Given the description of an element on the screen output the (x, y) to click on. 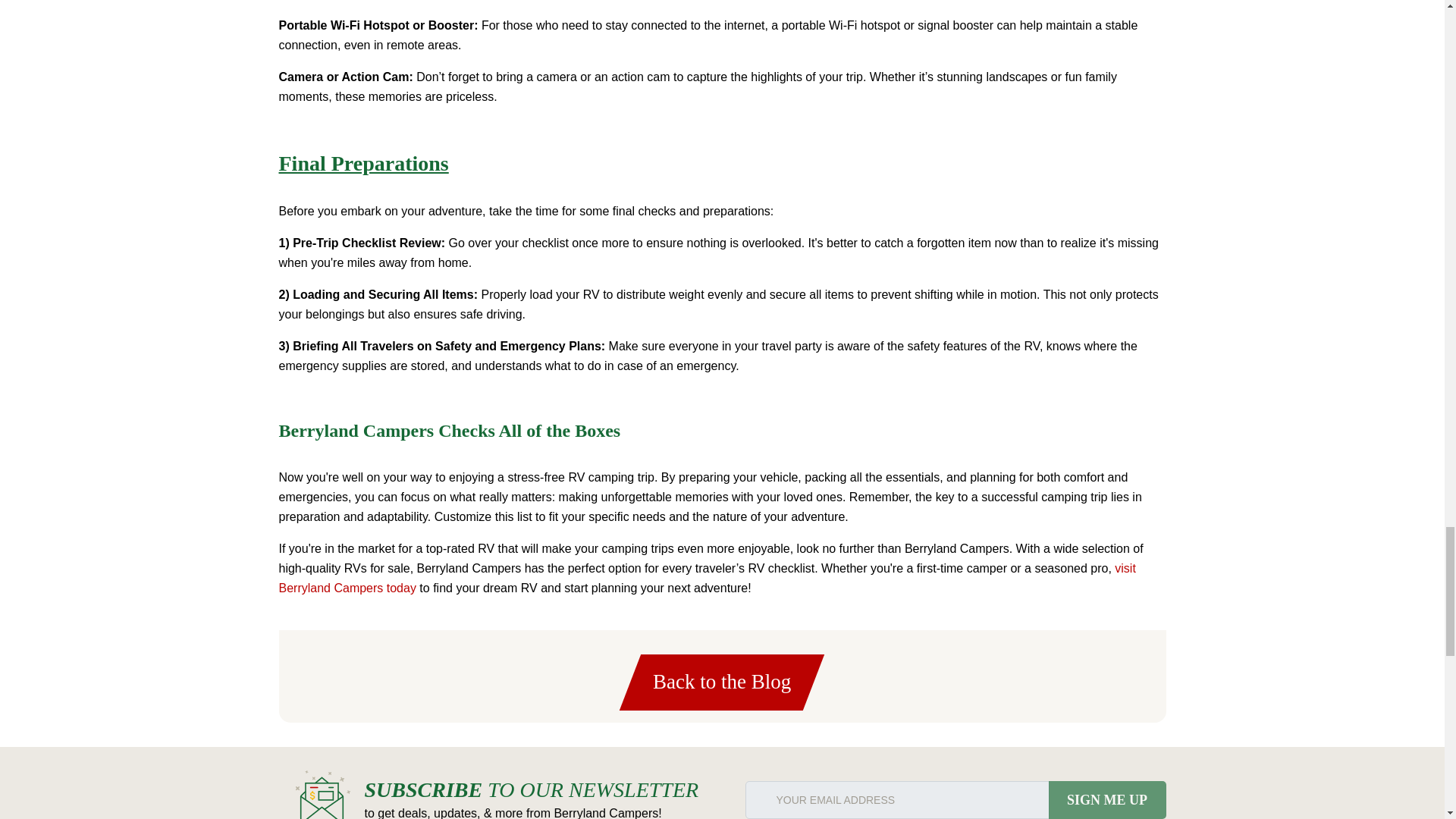
visit Berryland Campers today (707, 577)
Back to the Blog (711, 682)
Contact Berryland Campers Today (707, 577)
SIGN ME UP (1107, 800)
